Given the description of an element on the screen output the (x, y) to click on. 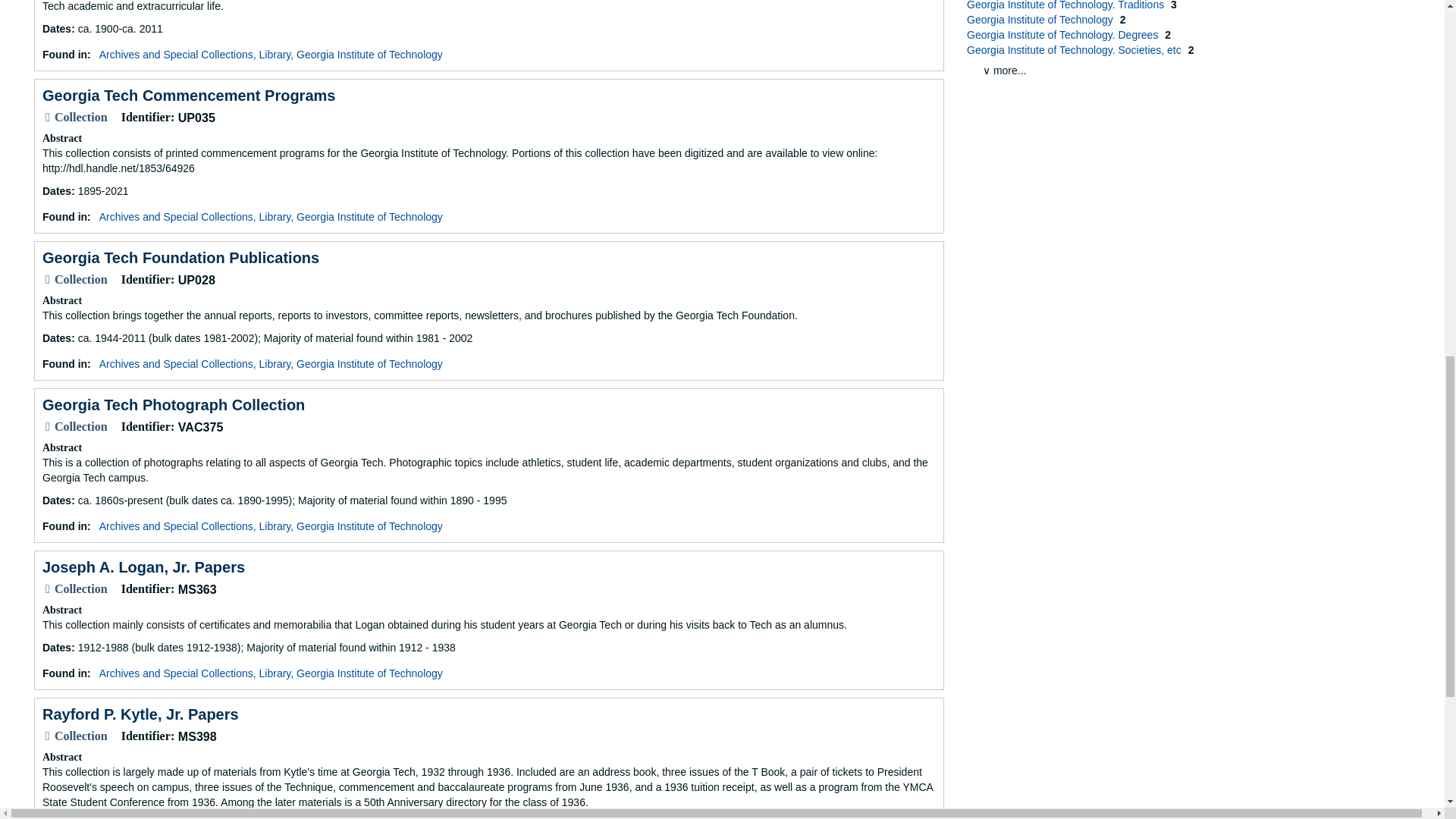
translation missing: en.dates (56, 647)
Rayford P. Kytle, Jr. Papers (140, 713)
translation missing: en.dates (56, 28)
Georgia Tech Commencement Programs (188, 95)
Georgia Tech Photograph Collection (173, 404)
translation missing: en.dates (56, 191)
translation missing: en.dates (56, 337)
